Given the description of an element on the screen output the (x, y) to click on. 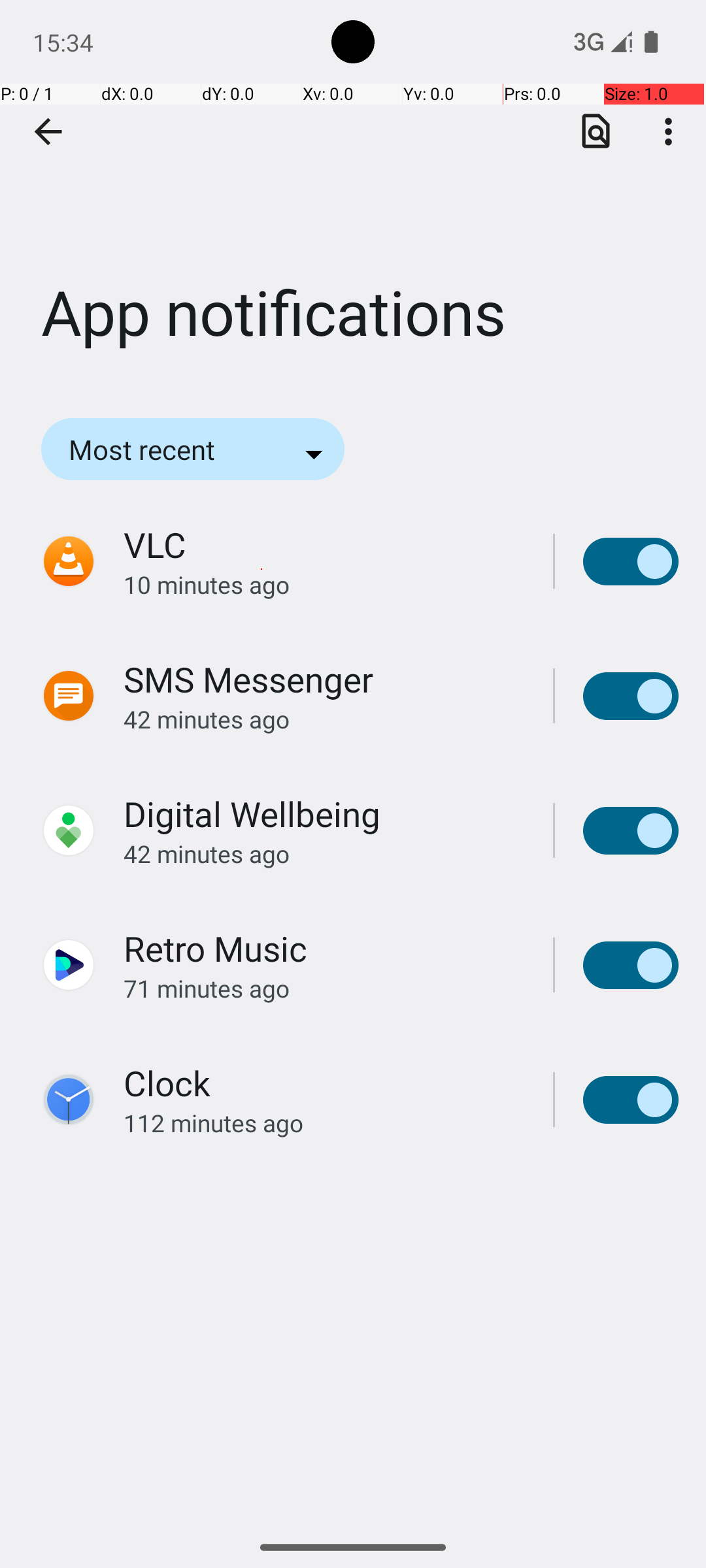
App notifications Element type: android.widget.FrameLayout (353, 195)
Most recent Element type: android.widget.TextView (159, 448)
10 minutes ago Element type: android.widget.TextView (324, 584)
42 minutes ago Element type: android.widget.TextView (324, 718)
Digital Wellbeing Element type: android.widget.TextView (252, 813)
71 minutes ago Element type: android.widget.TextView (324, 987)
112 minutes ago Element type: android.widget.TextView (324, 1122)
